Given the description of an element on the screen output the (x, y) to click on. 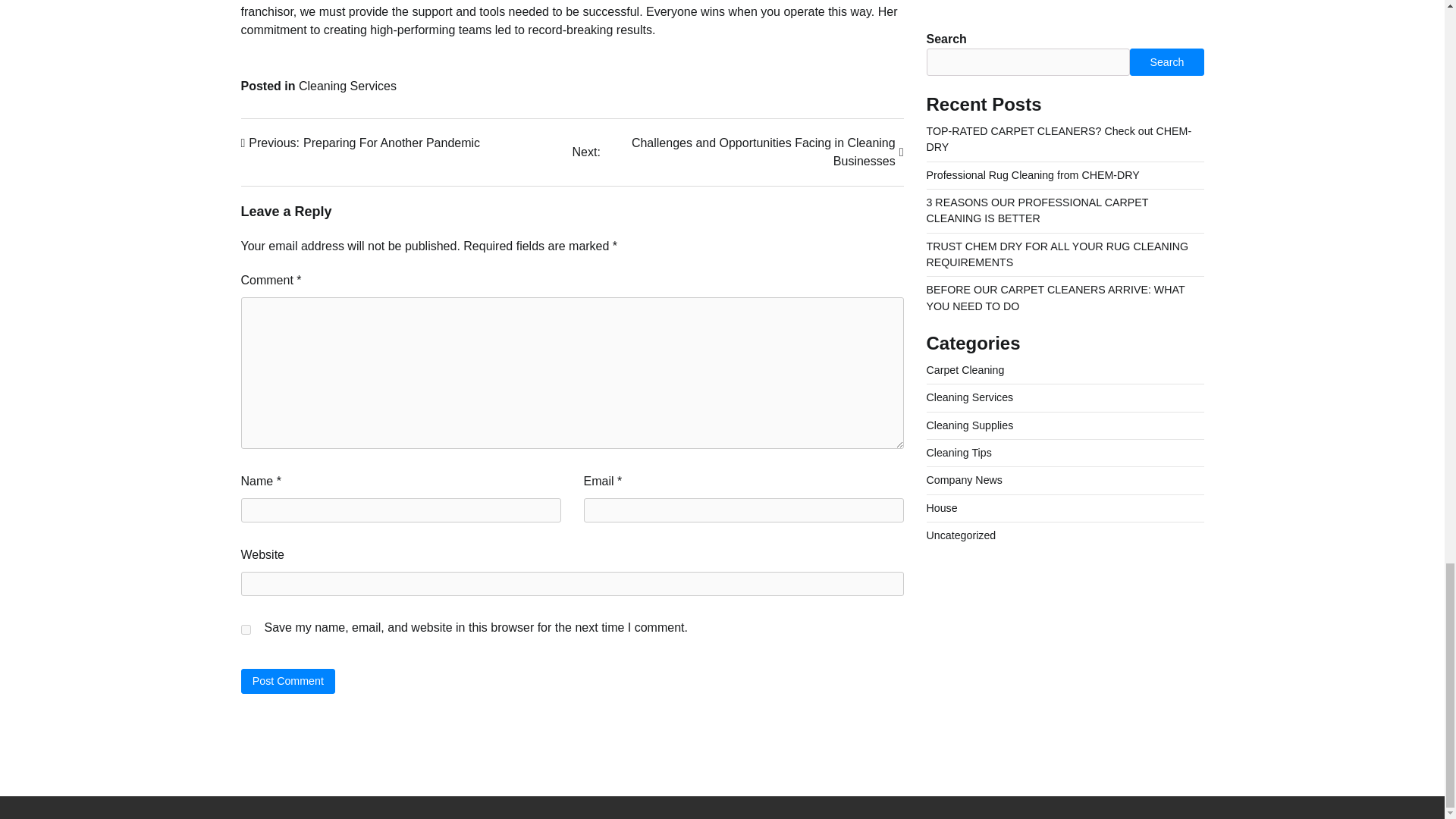
Post Comment (288, 681)
yes (245, 629)
Post Comment (288, 681)
Cleaning Services (360, 143)
